Given the description of an element on the screen output the (x, y) to click on. 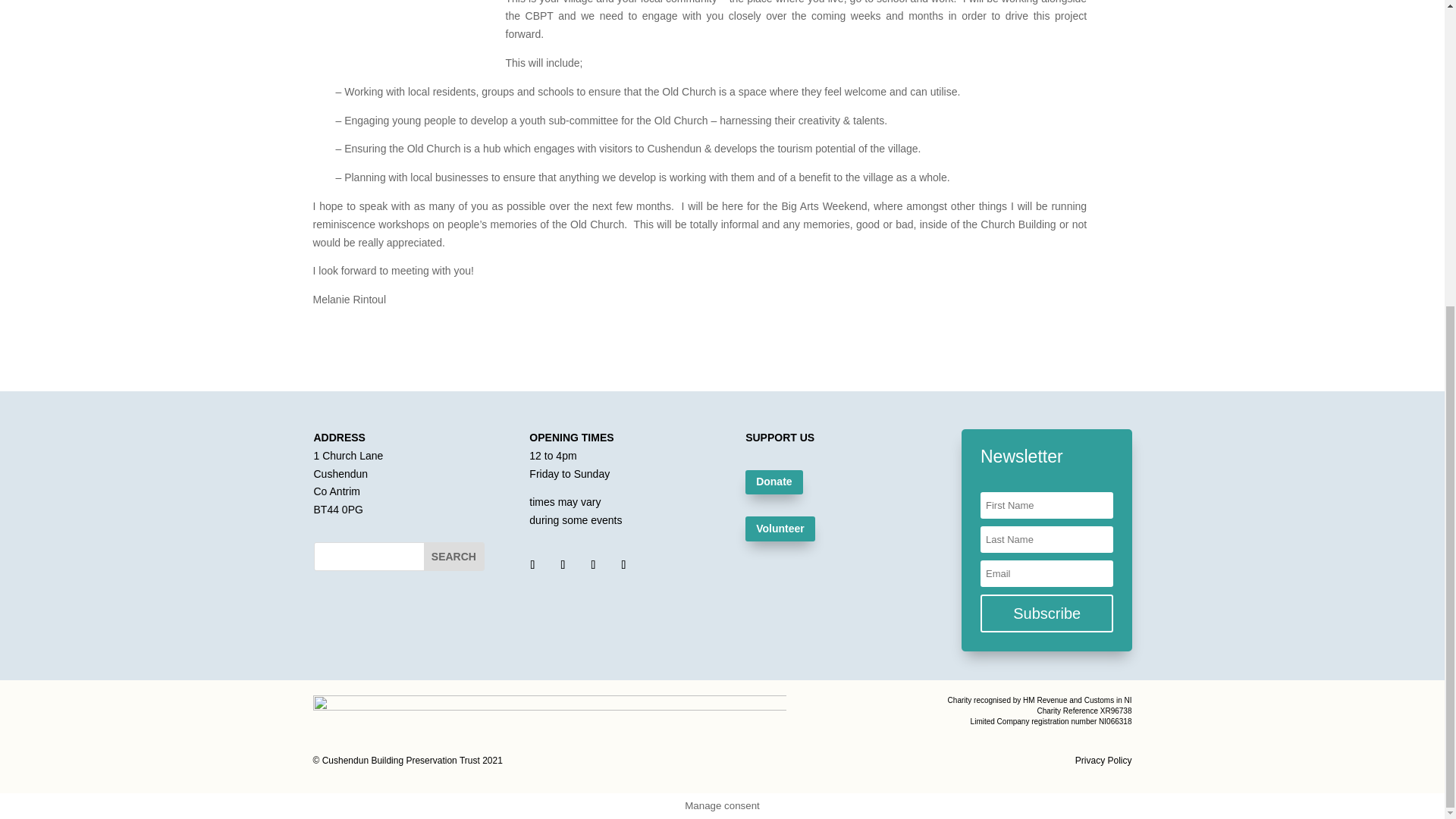
Search (453, 556)
Follow on Youtube (592, 564)
Subscribe (1046, 613)
Volunteer (780, 528)
Donate (773, 482)
Search (453, 556)
Follow on Facebook (531, 564)
Search (453, 556)
old-church-centre-cushendun-supporter-logos (549, 714)
Follow on Instagram (622, 564)
Follow on Twitter (562, 564)
